Given the description of an element on the screen output the (x, y) to click on. 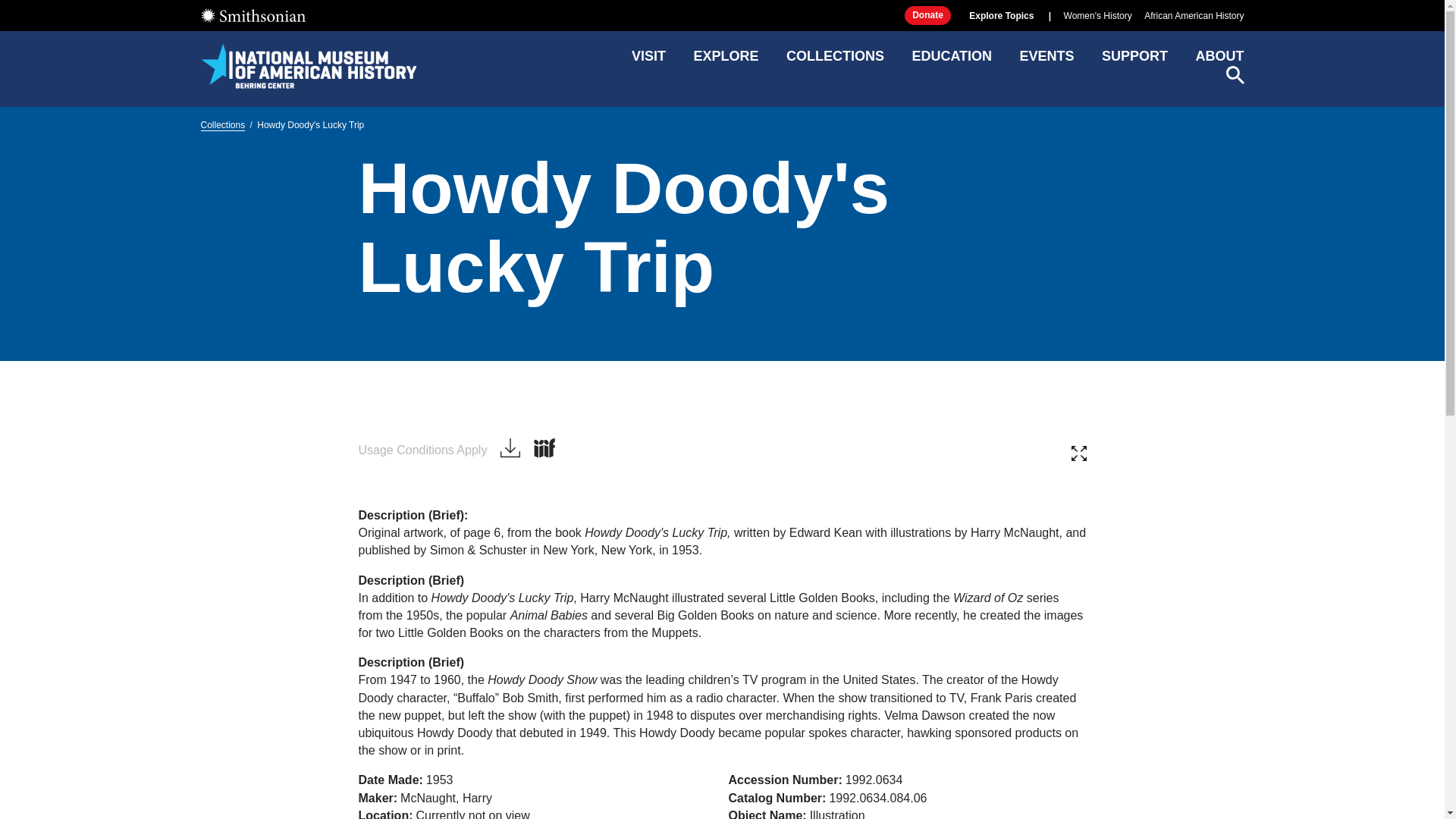
Smithsonian (422, 450)
EXPLORE (252, 15)
Click to view IIIF info (725, 60)
Click to view download files (544, 448)
Enlarge image (510, 449)
VISIT (1078, 453)
National Museum of American History (648, 60)
COLLECTIONS (308, 65)
EDUCATION (834, 60)
